Given the description of an element on the screen output the (x, y) to click on. 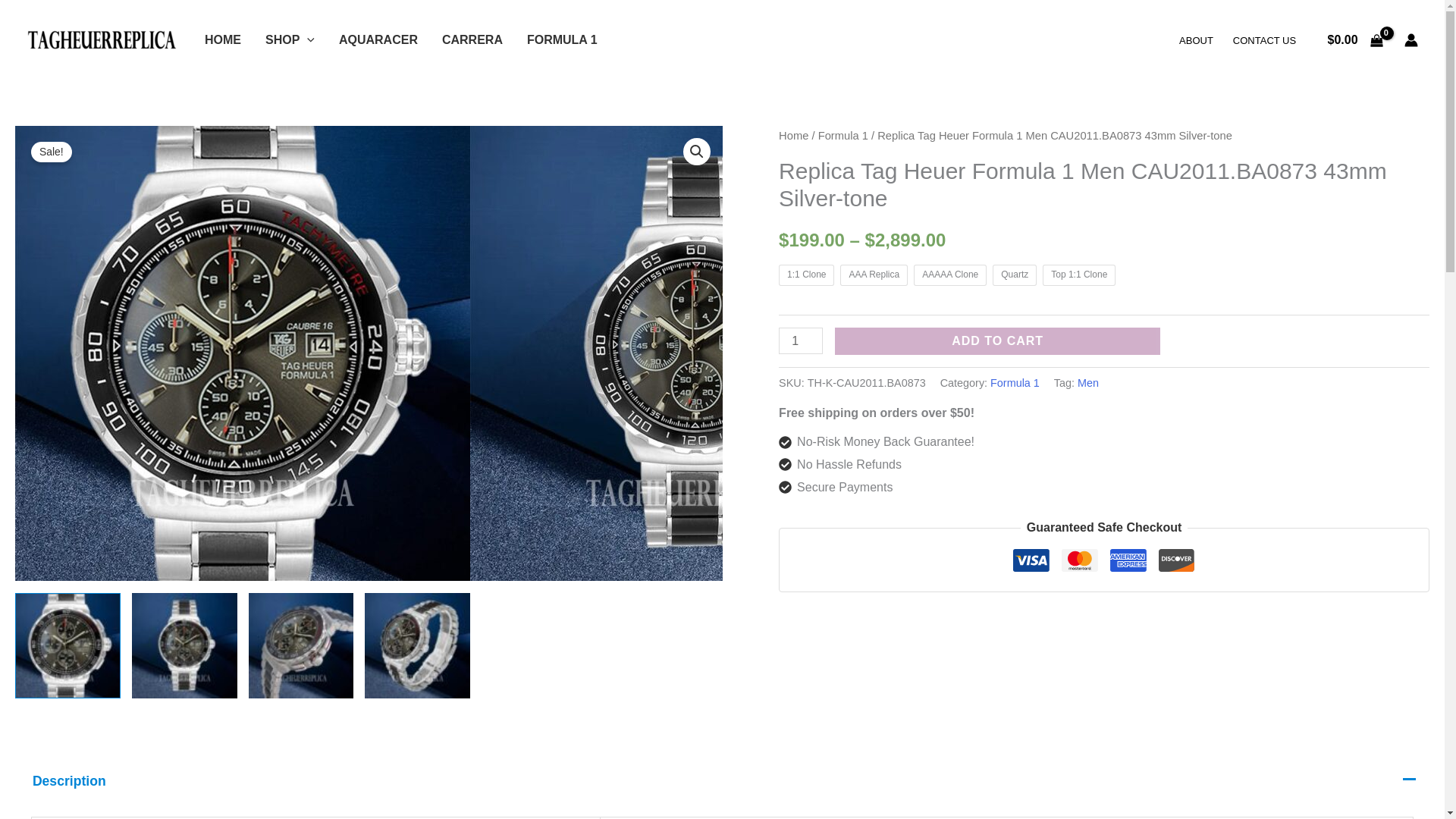
Formula 1 (1014, 382)
CARRERA (472, 39)
ABOUT (1196, 39)
1 (800, 340)
AQUARACER (377, 39)
SHOP (289, 39)
Formula 1 (842, 135)
ADD TO CART (997, 340)
HOME (222, 39)
Home (793, 135)
FORMULA 1 (562, 39)
CONTACT US (1264, 39)
Men (1088, 382)
